Given the description of an element on the screen output the (x, y) to click on. 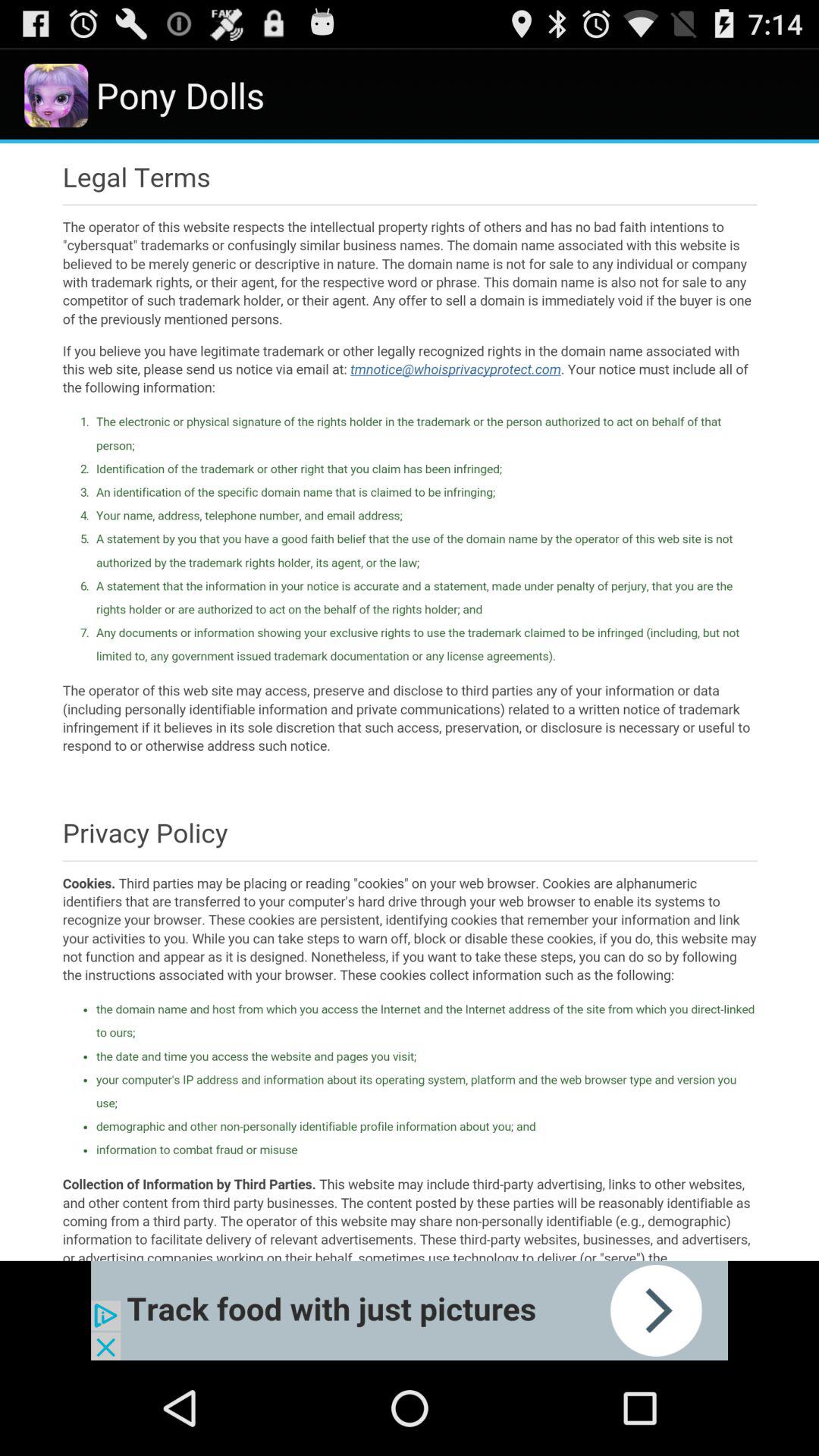
advertisement banner would take off site (409, 1310)
